Given the description of an element on the screen output the (x, y) to click on. 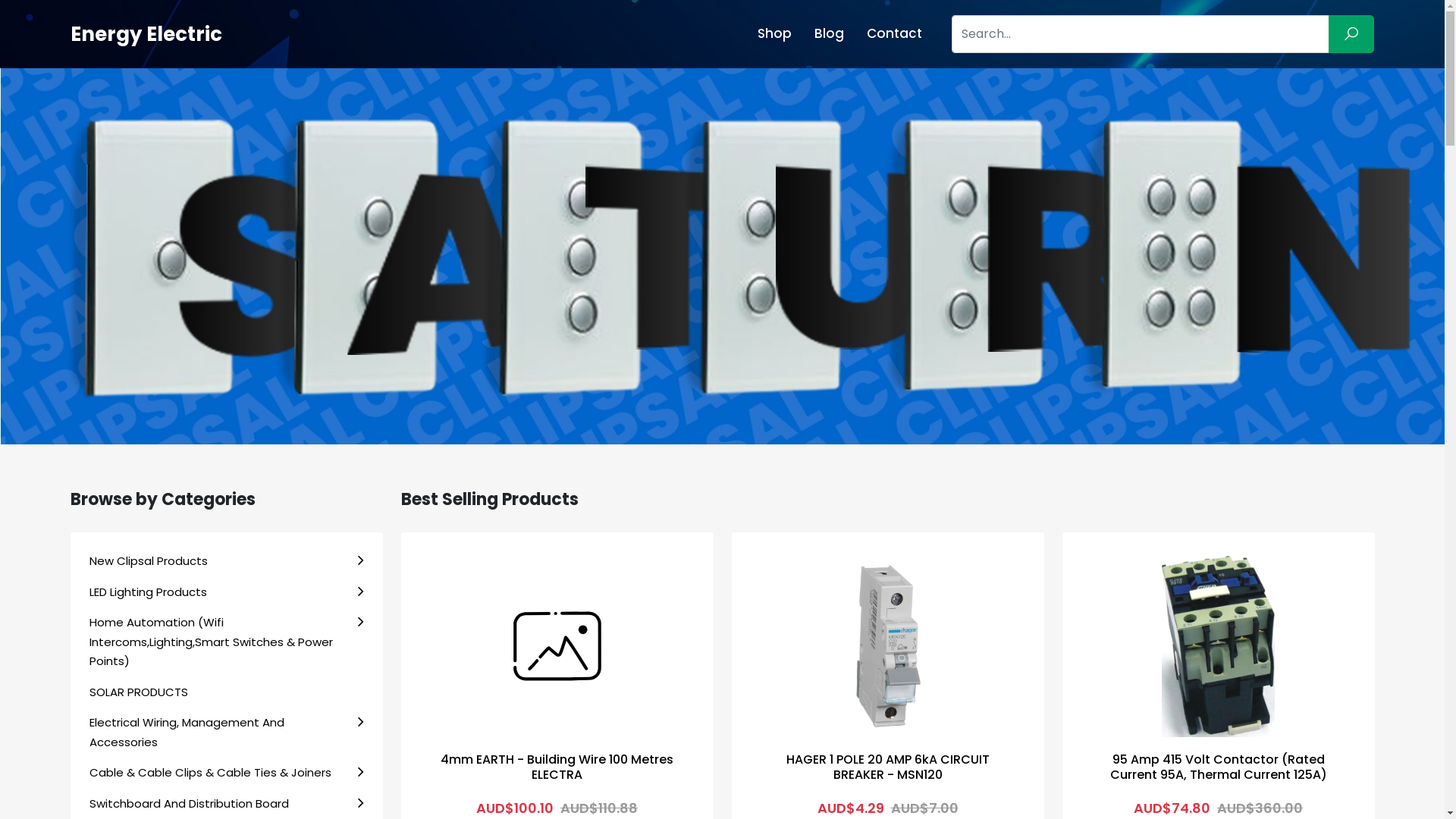
LED Lighting Products Element type: text (226, 592)
Energy Electric Element type: text (145, 33)
HAGER 1 POLE 20 AMP 6kA CIRCUIT BREAKER - MSN120 Element type: hover (887, 646)
Cable & Cable Clips & Cable Ties & Joiners Element type: text (226, 772)
Shop Element type: text (774, 33)
4mm EARTH - Building Wire 100 Metres ELECTRA Element type: hover (556, 646)
SOLAR PRODUCTS Element type: text (226, 692)
Contact Element type: text (894, 33)
Blog Element type: text (829, 33)
Electrical Wiring, Management And Accessories Element type: text (226, 731)
4mm EARTH - Building Wire 100 Metres ELECTRA Element type: text (556, 766)
Switchboard And Distribution Board Element type: text (226, 803)
HAGER 1 POLE 20 AMP 6kA CIRCUIT BREAKER - MSN120 Element type: text (886, 766)
New Clipsal Products Element type: text (226, 561)
